Given the description of an element on the screen output the (x, y) to click on. 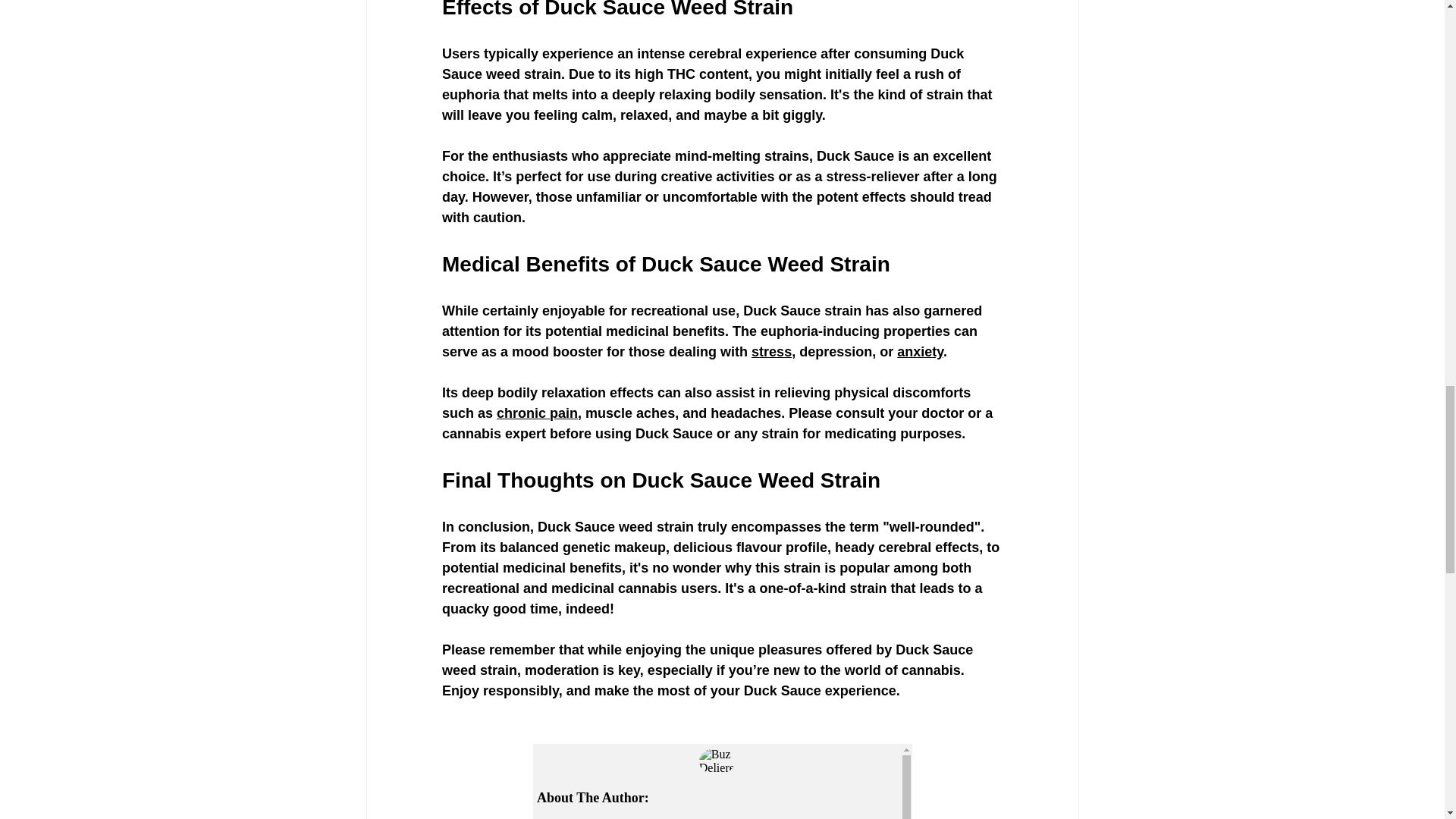
remote content (721, 781)
chronic pain (537, 412)
stress (771, 351)
anxiety (919, 351)
